Given the description of an element on the screen output the (x, y) to click on. 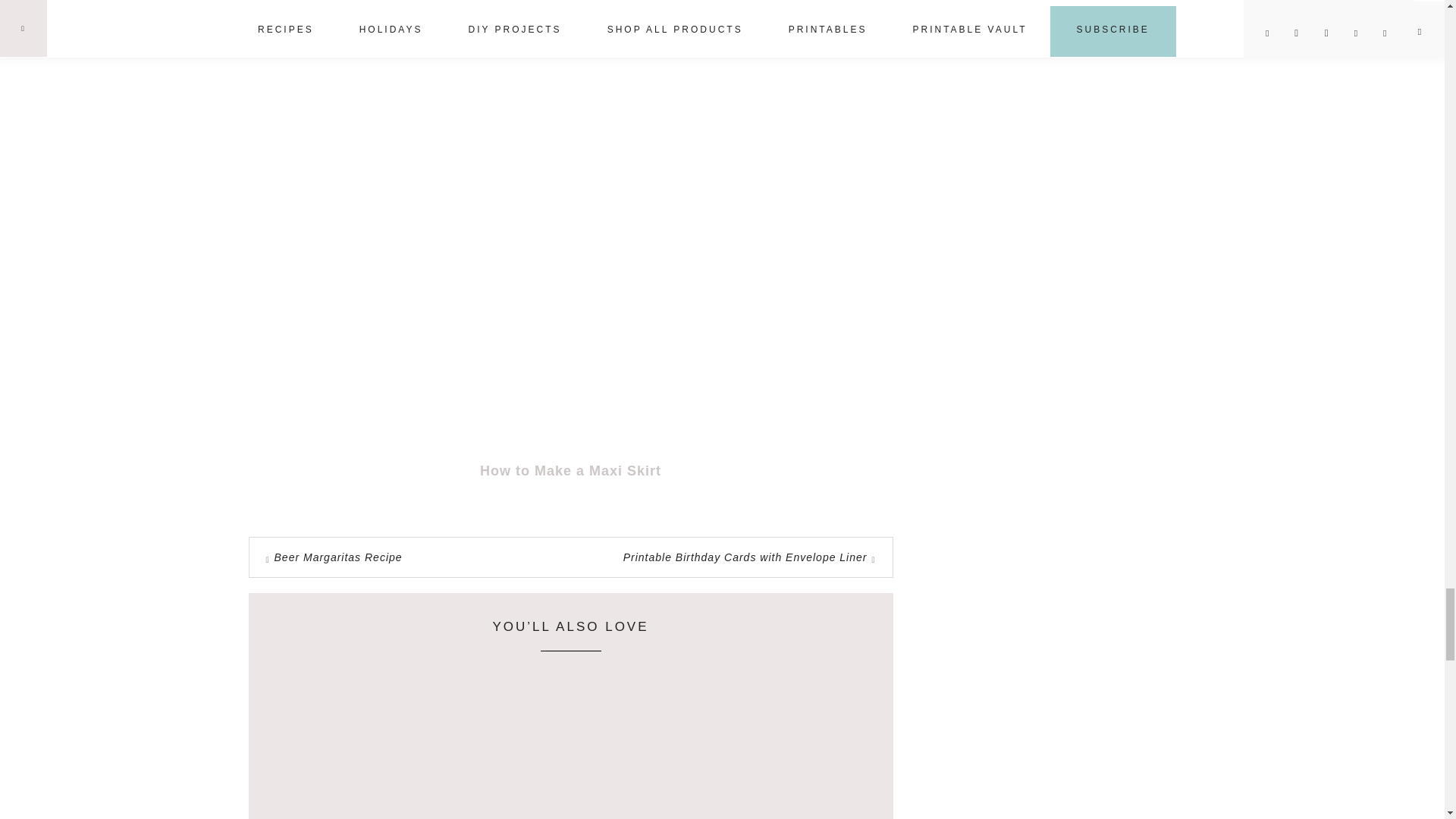
Permanent Link to How To Make a Tire Swing Tutorial (370, 804)
Permanent Link to DIY Designer Letters (765, 816)
